Given the description of an element on the screen output the (x, y) to click on. 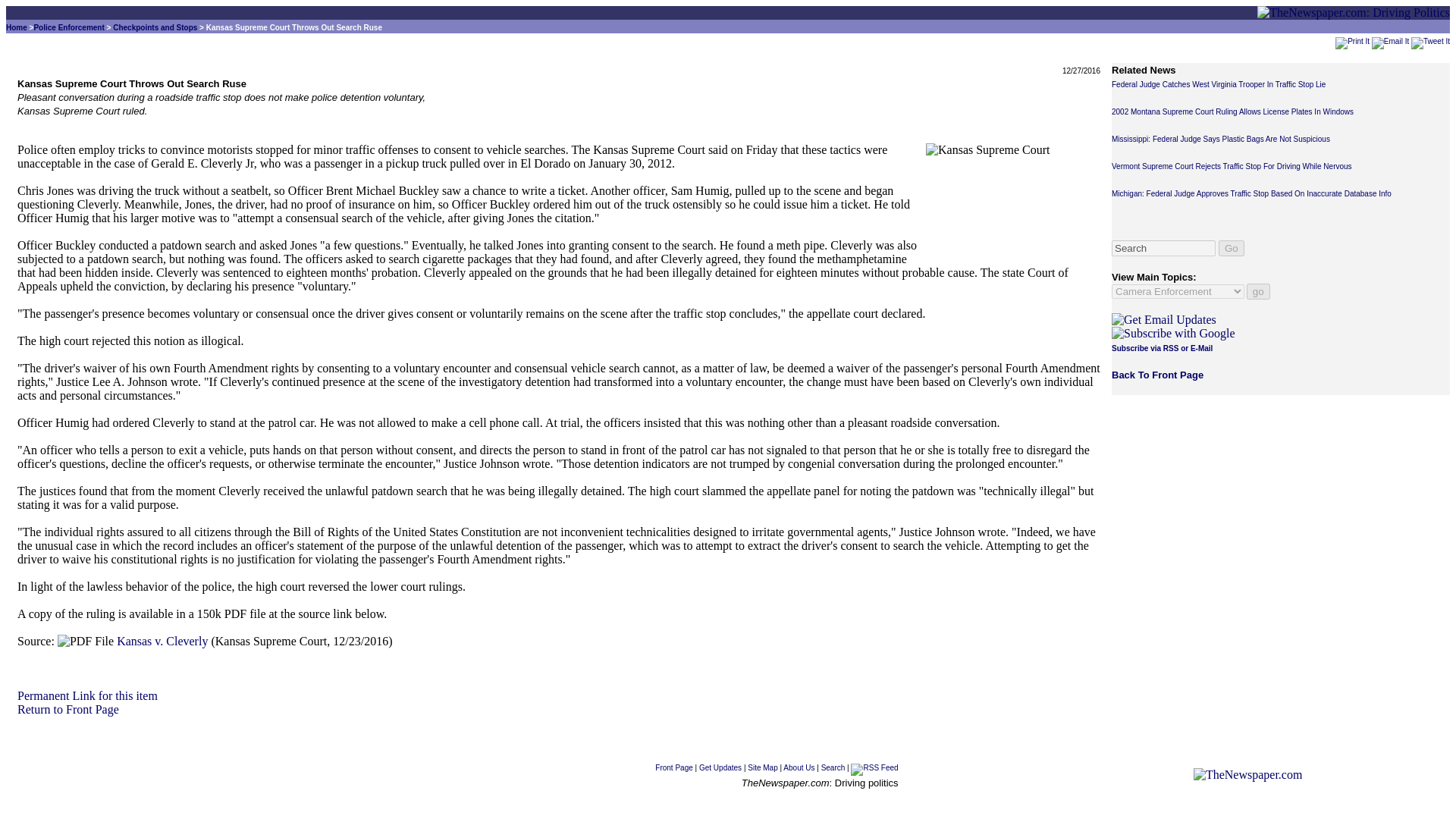
View Similar Main Topics (68, 27)
Home (16, 27)
Site Map (762, 767)
Search (1352, 40)
Kansas v. Cleverly (833, 767)
Return to Front Page (162, 640)
Front Page (68, 708)
Checkpoints and Stops (674, 767)
About Us (154, 27)
